Given the description of an element on the screen output the (x, y) to click on. 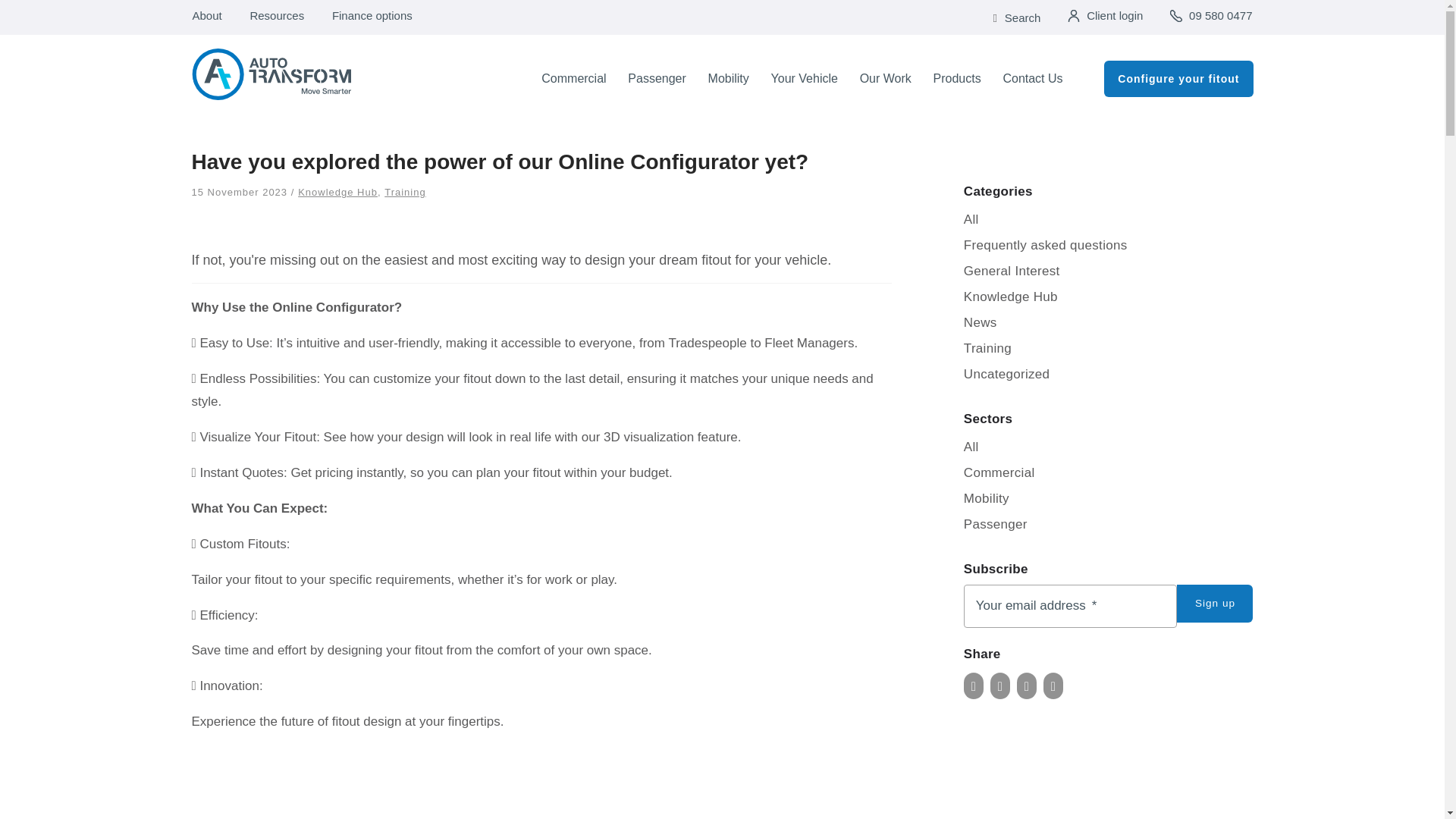
Client login (1114, 16)
Mobility (728, 78)
Commercial (573, 78)
Search (1023, 18)
Finance options (372, 16)
About (206, 16)
09 580 0477 (1220, 16)
Passenger (656, 78)
Sign up (1214, 603)
